Given the description of an element on the screen output the (x, y) to click on. 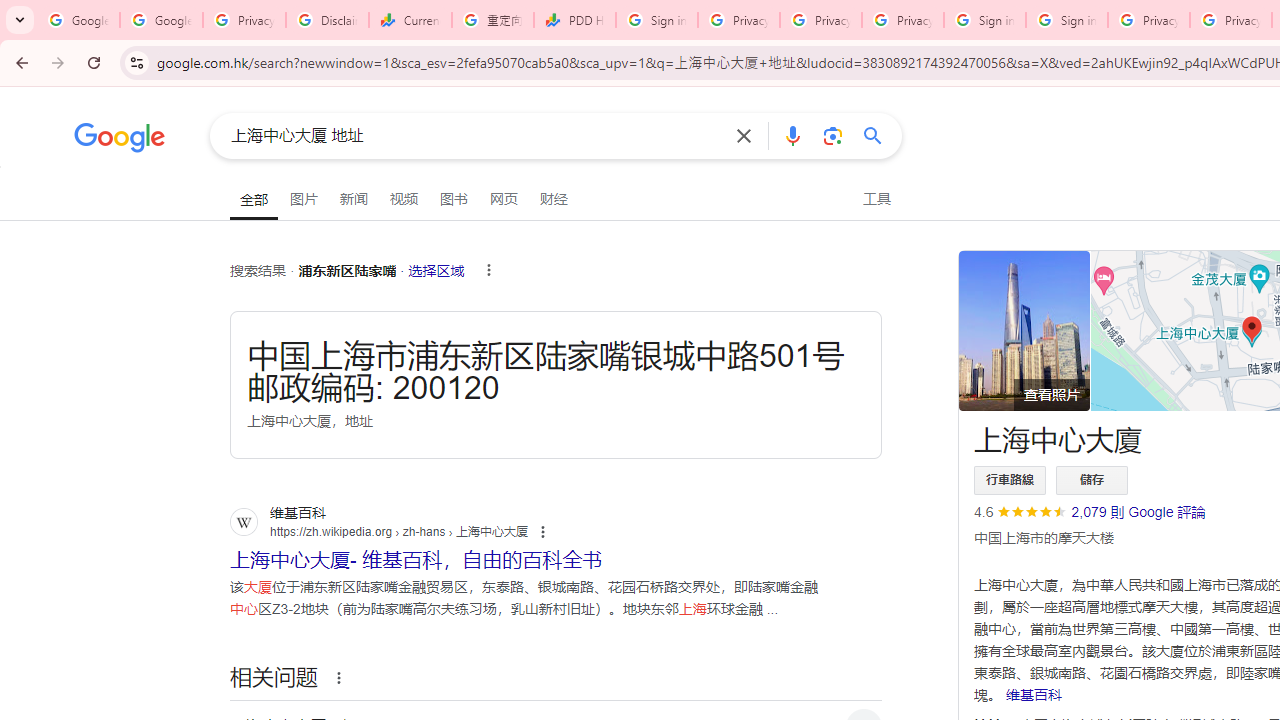
Privacy Checkup (902, 20)
Sign in - Google Accounts (656, 20)
